Given the description of an element on the screen output the (x, y) to click on. 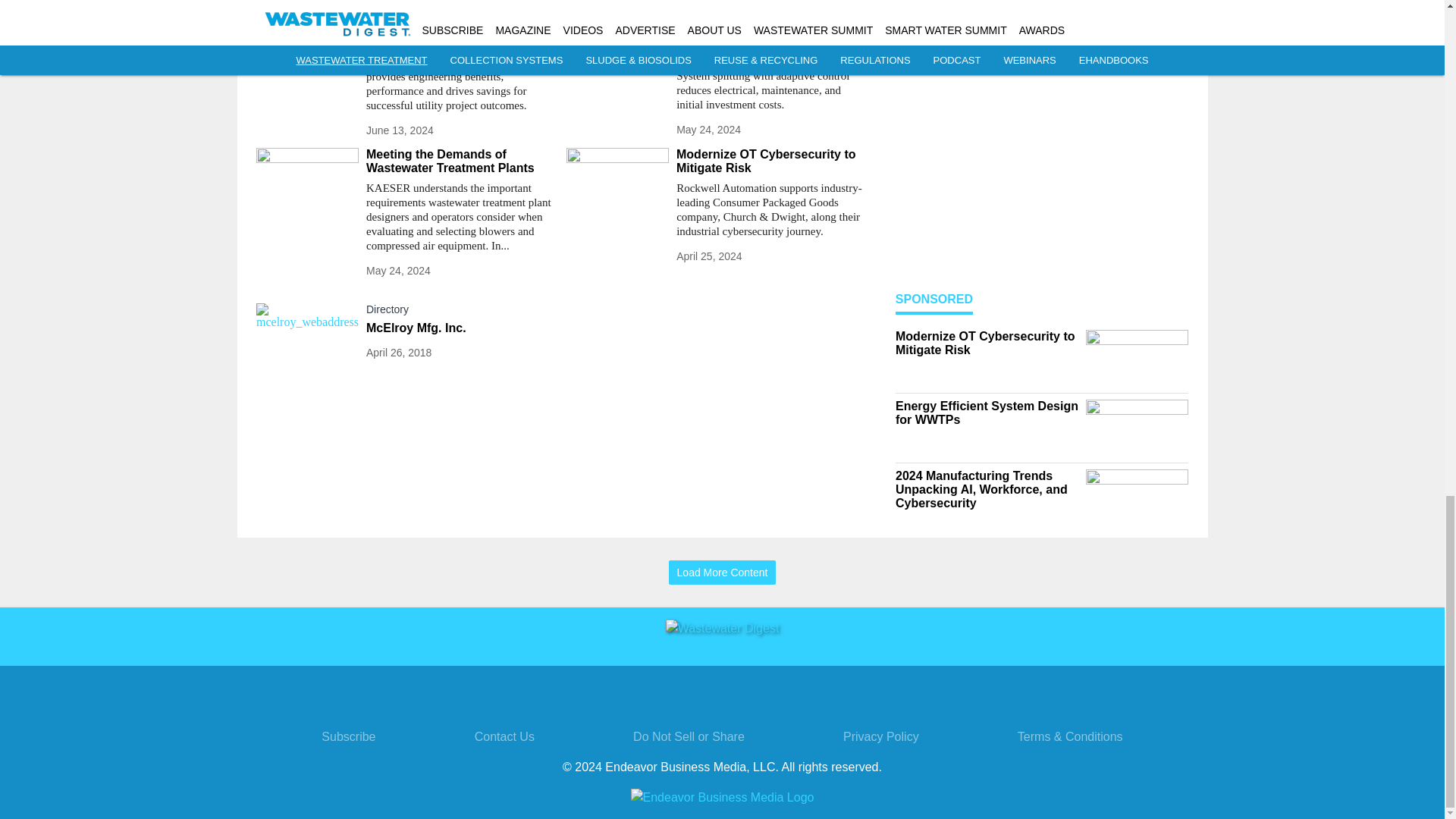
Get Utility Project Solutions (459, 42)
Meeting the Demands of Wastewater Treatment Plants (459, 161)
Energy Efficient System Design for WWTPs (770, 49)
Directory (459, 312)
Modernize OT Cybersecurity to Mitigate Risk (770, 161)
